Given the description of an element on the screen output the (x, y) to click on. 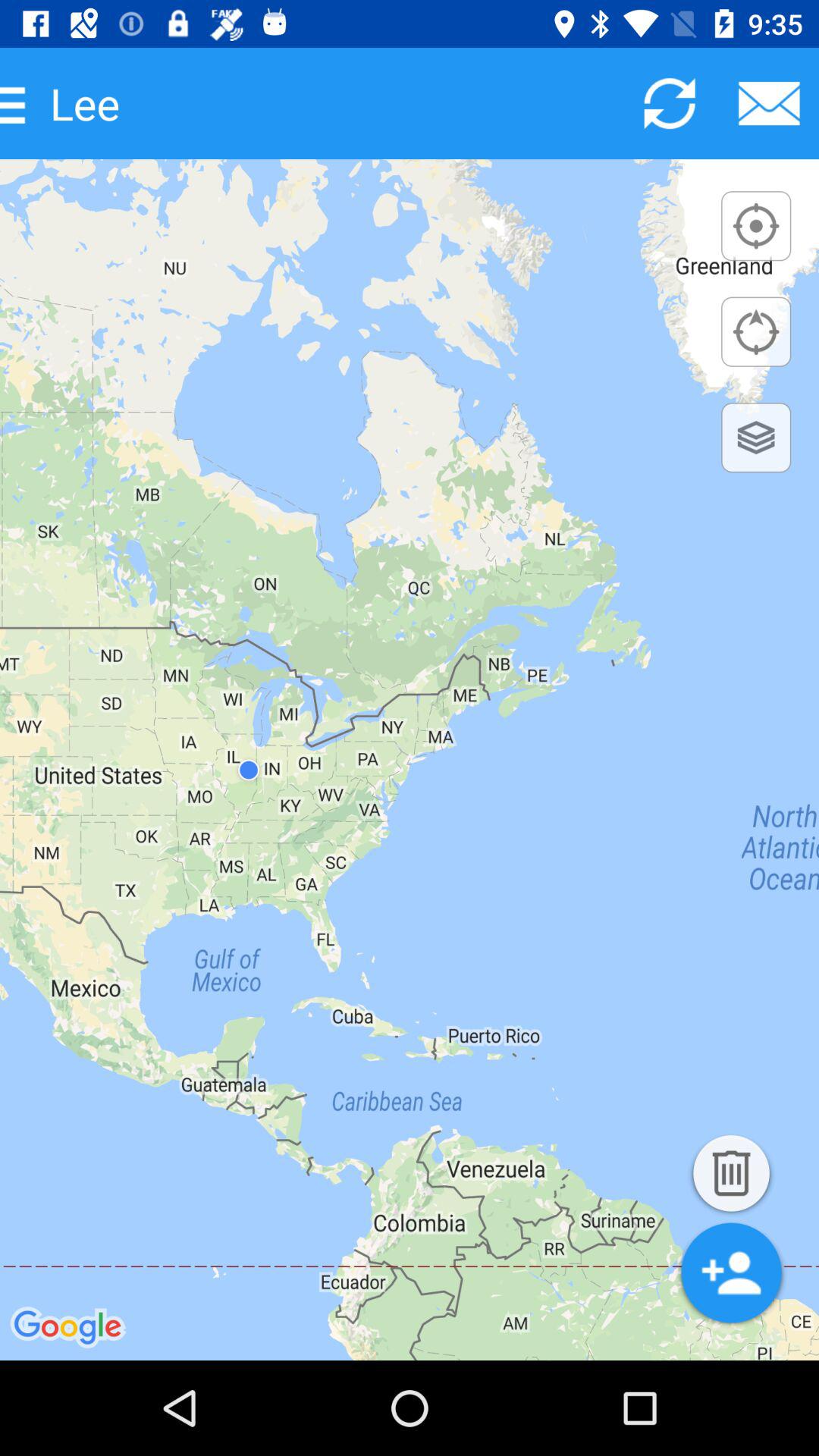
update map (669, 103)
